Given the description of an element on the screen output the (x, y) to click on. 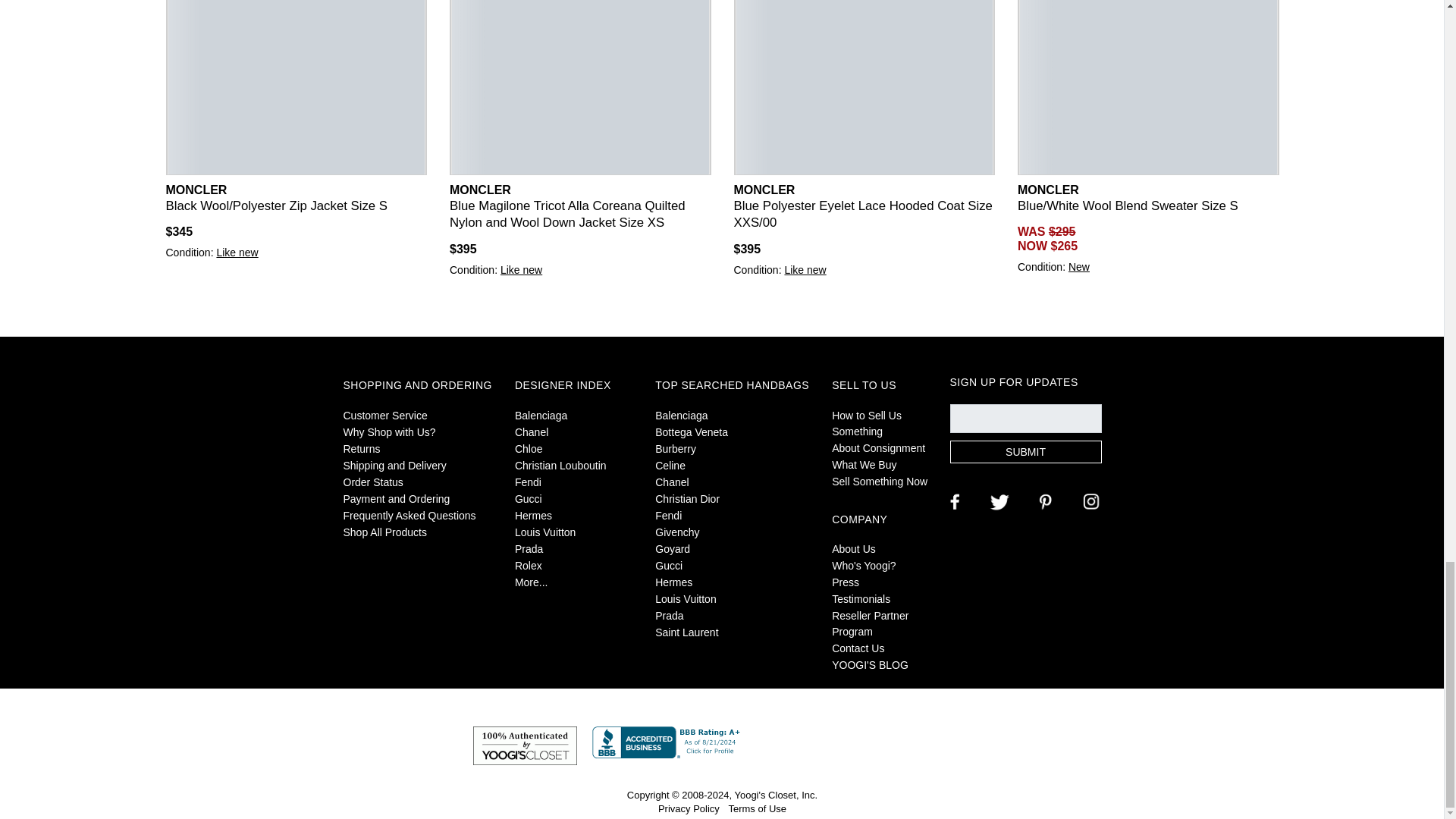
Follow us on Facebook (952, 500)
Guaranteed Authentic by Yoogi''s Closet (524, 744)
Customer reviews powered by Trustpilot (857, 734)
Follow us on Pinterest (1043, 500)
Follow us on Instagram (1089, 500)
Follow us on Twitter (998, 500)
